Given the description of an element on the screen output the (x, y) to click on. 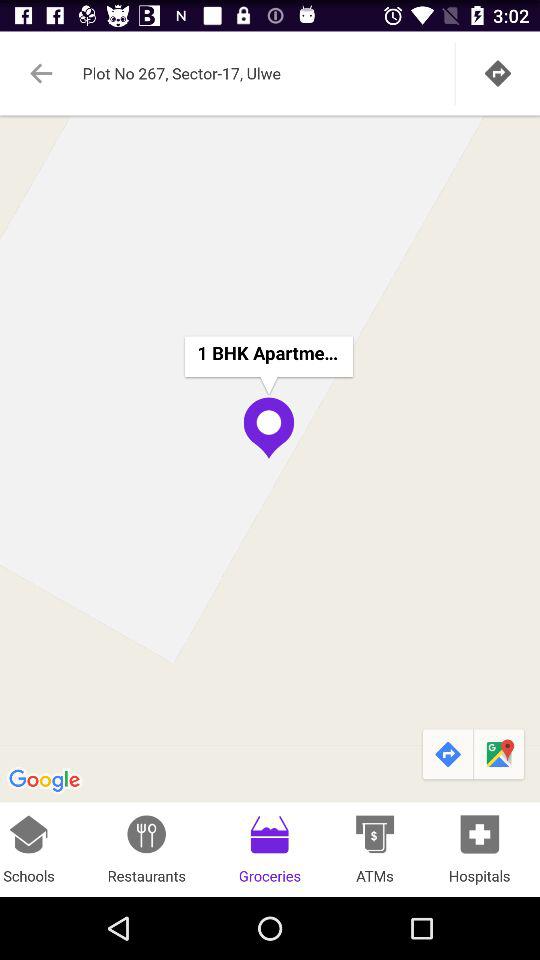
open icon at the center (270, 458)
